Given the description of an element on the screen output the (x, y) to click on. 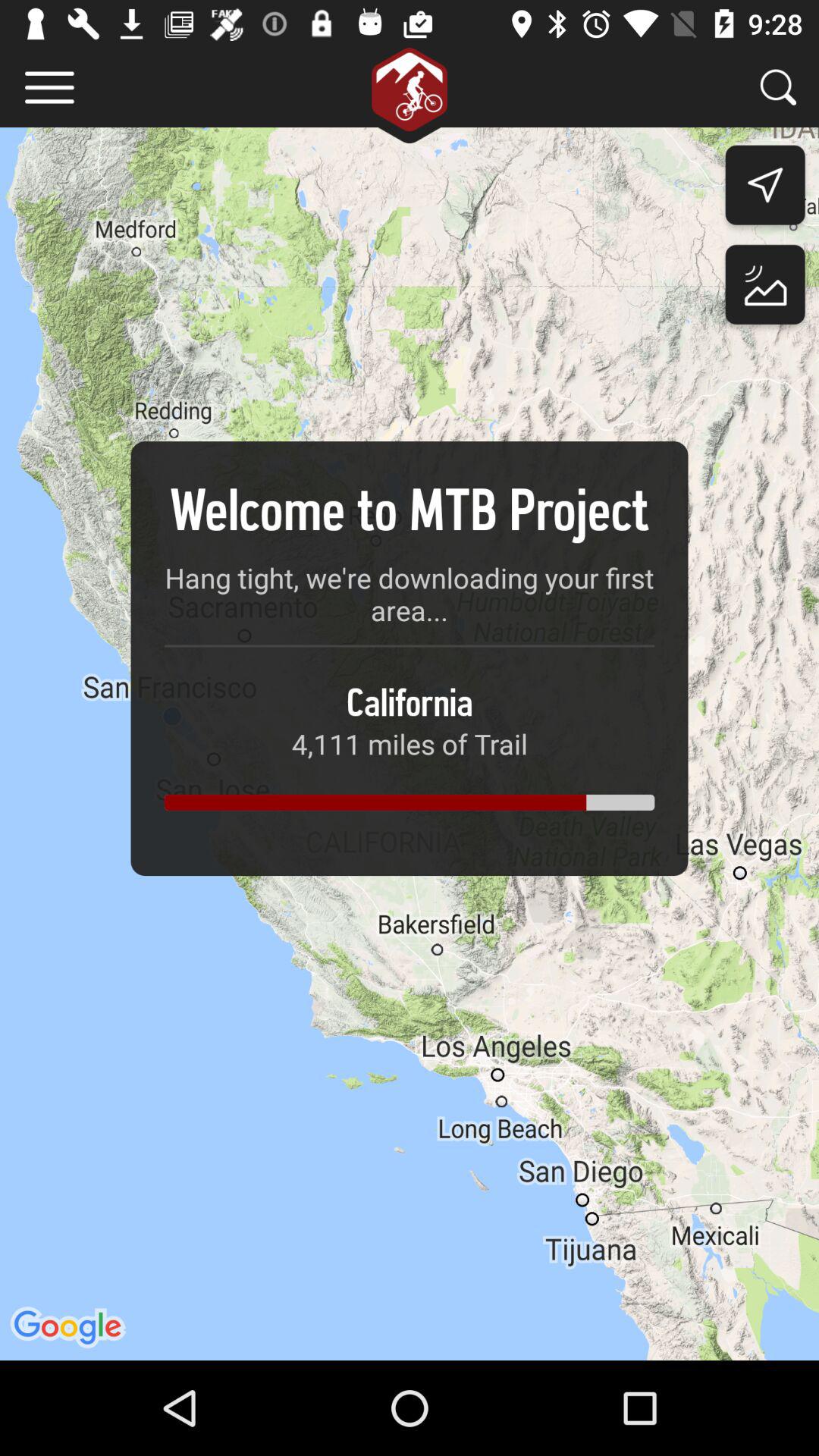
satellite view (765, 288)
